Given the description of an element on the screen output the (x, y) to click on. 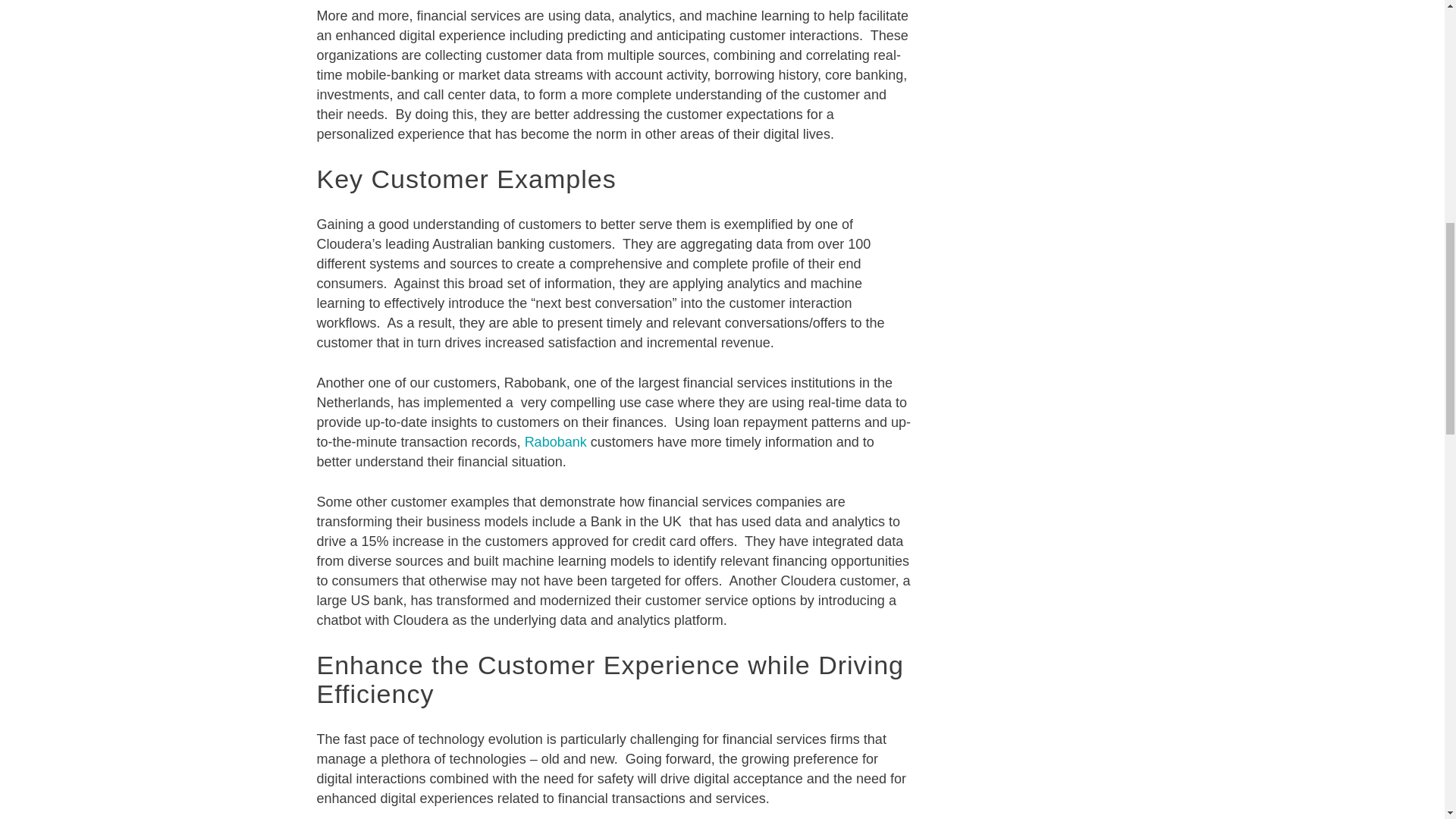
Rabobank (555, 441)
